Given the description of an element on the screen output the (x, y) to click on. 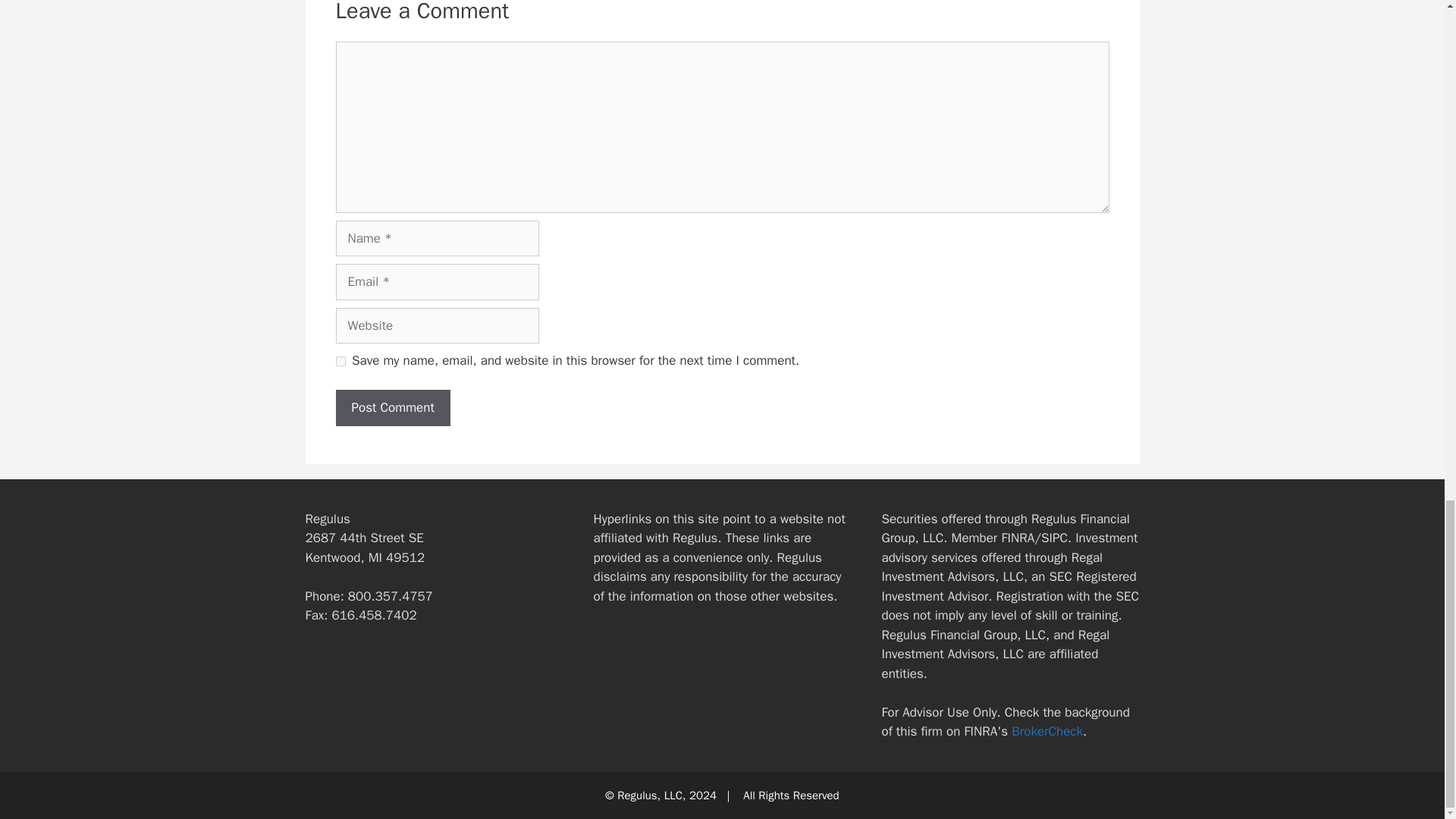
Post Comment (391, 407)
yes (339, 361)
Post Comment (391, 407)
BrokerCheck (1047, 731)
